Given the description of an element on the screen output the (x, y) to click on. 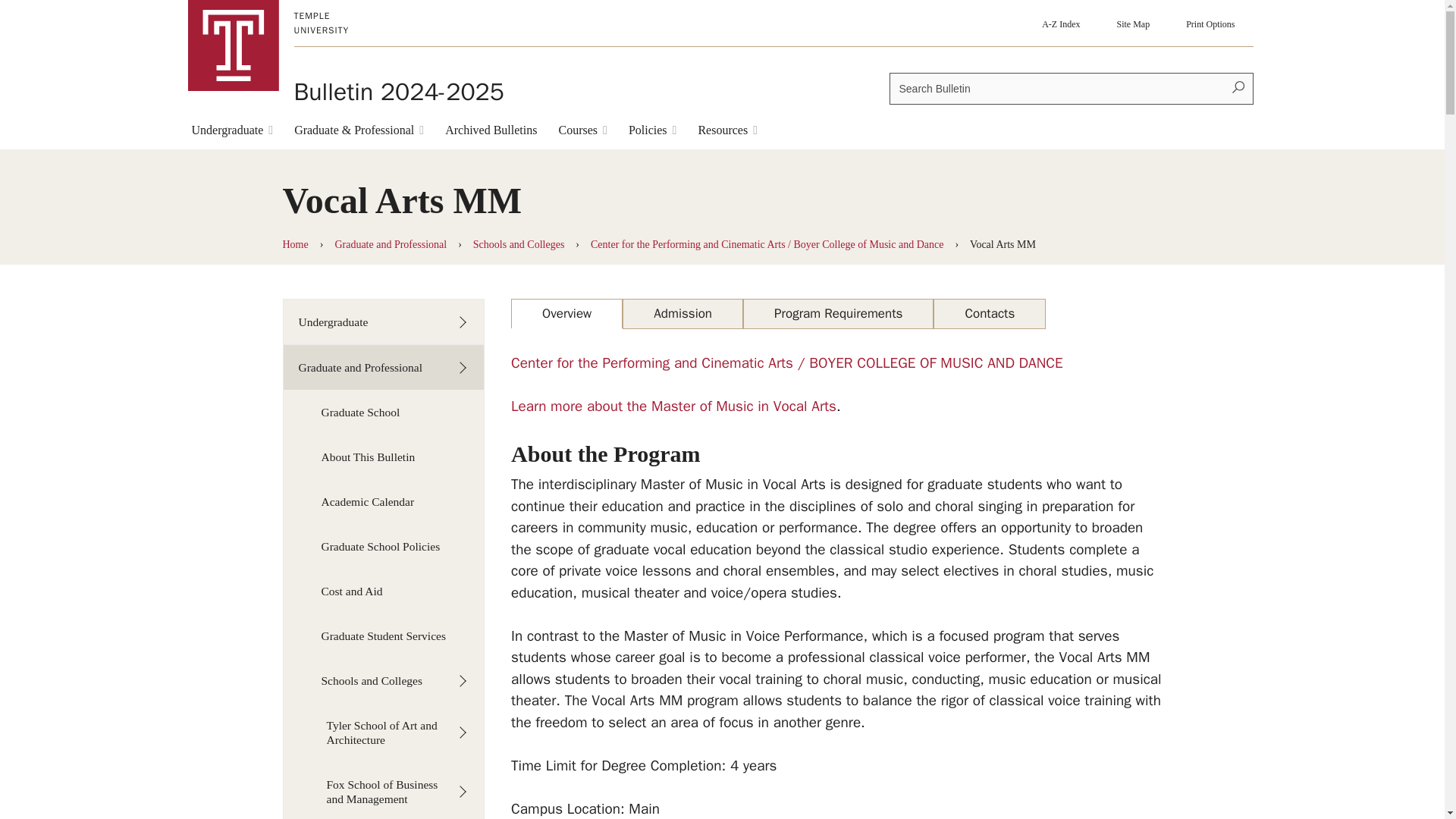
A-Z Index (1060, 22)
Policies (652, 134)
Site Map (1132, 22)
Courses (582, 134)
Submit search (1237, 88)
Undergraduate (231, 134)
Archived Bulletins (491, 134)
TEMPLE UNIVERSITY (341, 22)
Print Options (1209, 22)
Bulletin 2024-2025 (398, 91)
